Given the description of an element on the screen output the (x, y) to click on. 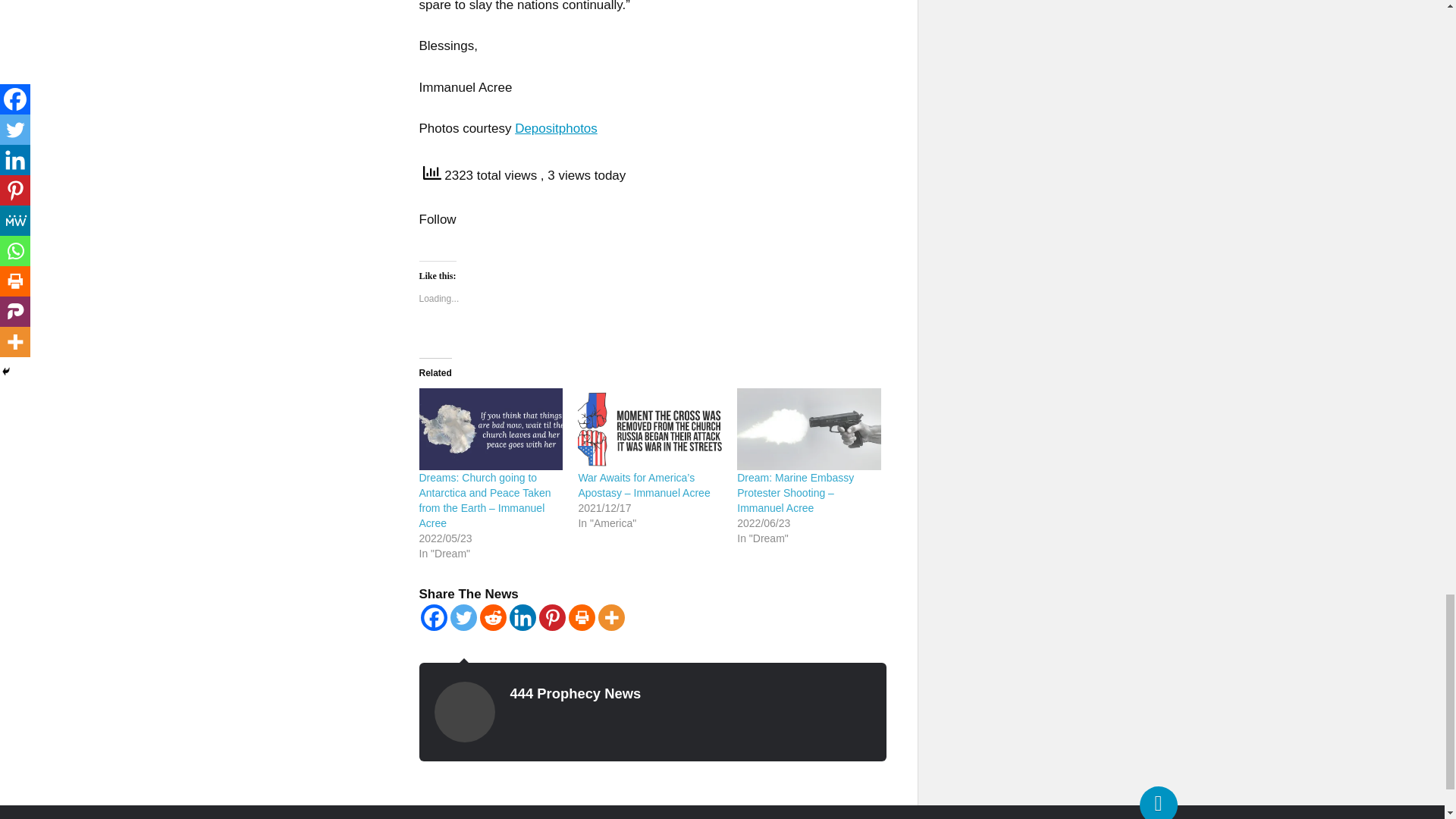
Facebook (433, 617)
Reddit (492, 617)
Pinterest (551, 617)
Depositphotos (555, 128)
Twitter (463, 617)
Print (582, 617)
Linkedin (522, 617)
